Given the description of an element on the screen output the (x, y) to click on. 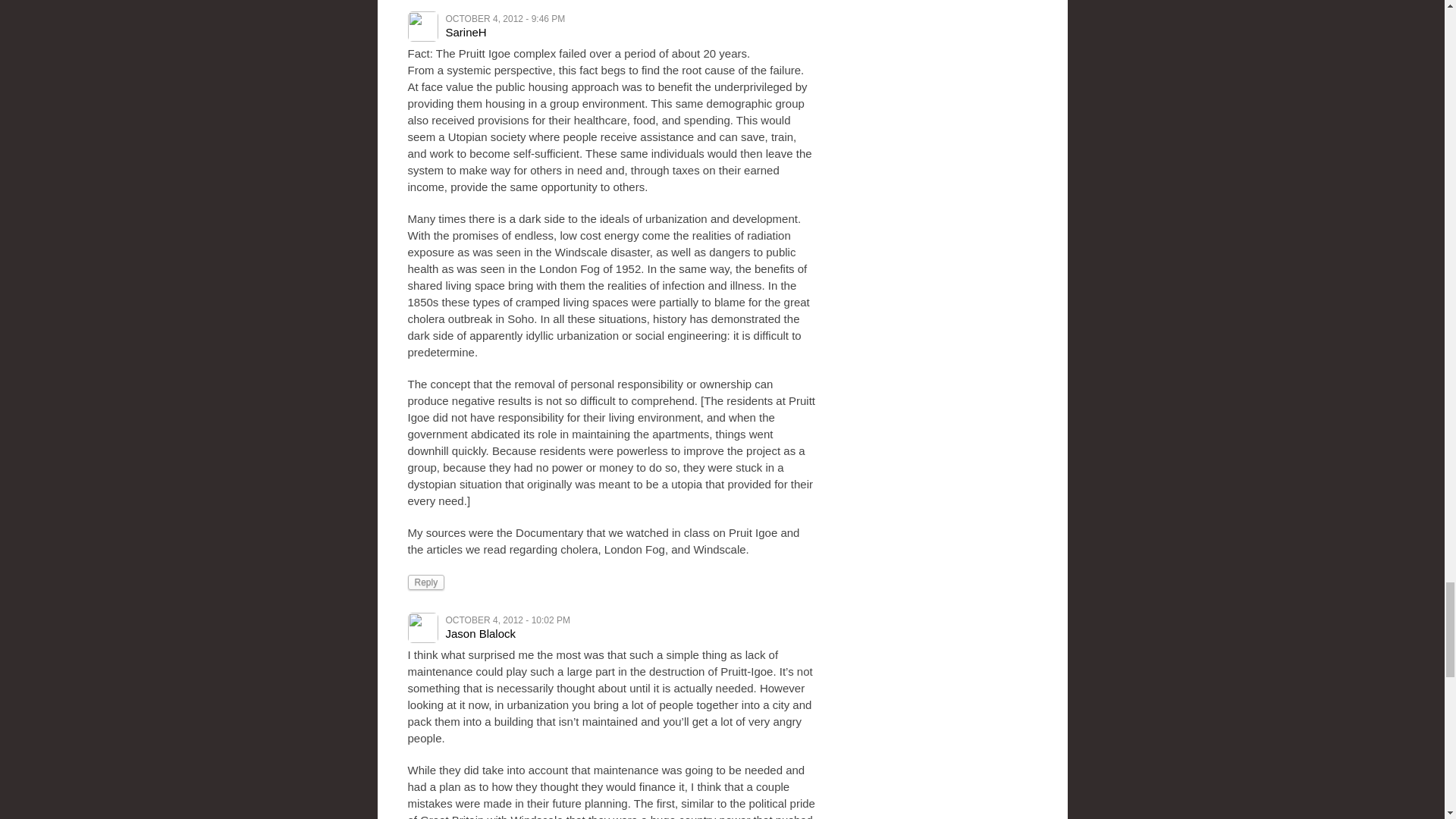
Reply (426, 581)
OCTOBER 4, 2012 - 9:46 PM (505, 18)
OCTOBER 4, 2012 - 10:02 PM (507, 620)
